Given the description of an element on the screen output the (x, y) to click on. 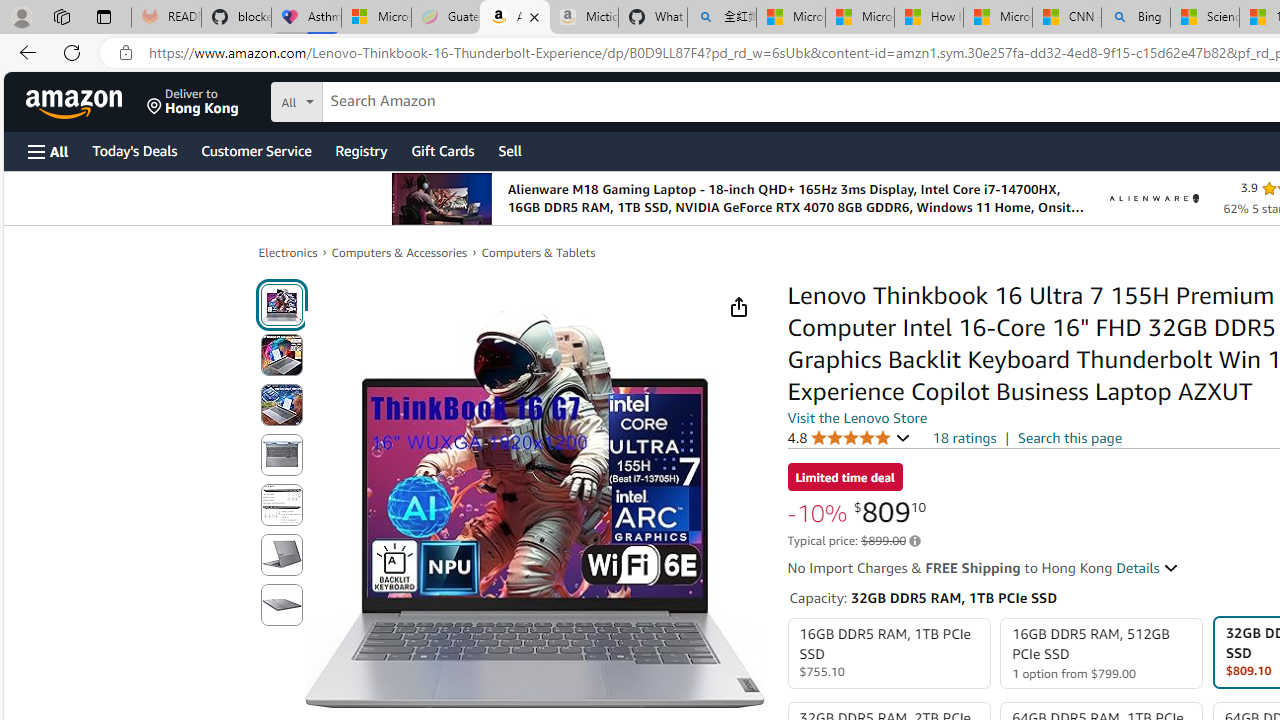
Visit the Lenovo Store (857, 417)
Electronics (287, 252)
Bing (1135, 17)
Logo (1153, 198)
Learn more about Amazon pricing and savings (914, 541)
Sell (509, 150)
Computers & Accessories (399, 252)
Science - MSN (1205, 17)
Skip to main content (86, 100)
View site information (125, 53)
Share (738, 307)
Electronics (287, 251)
